Given the description of an element on the screen output the (x, y) to click on. 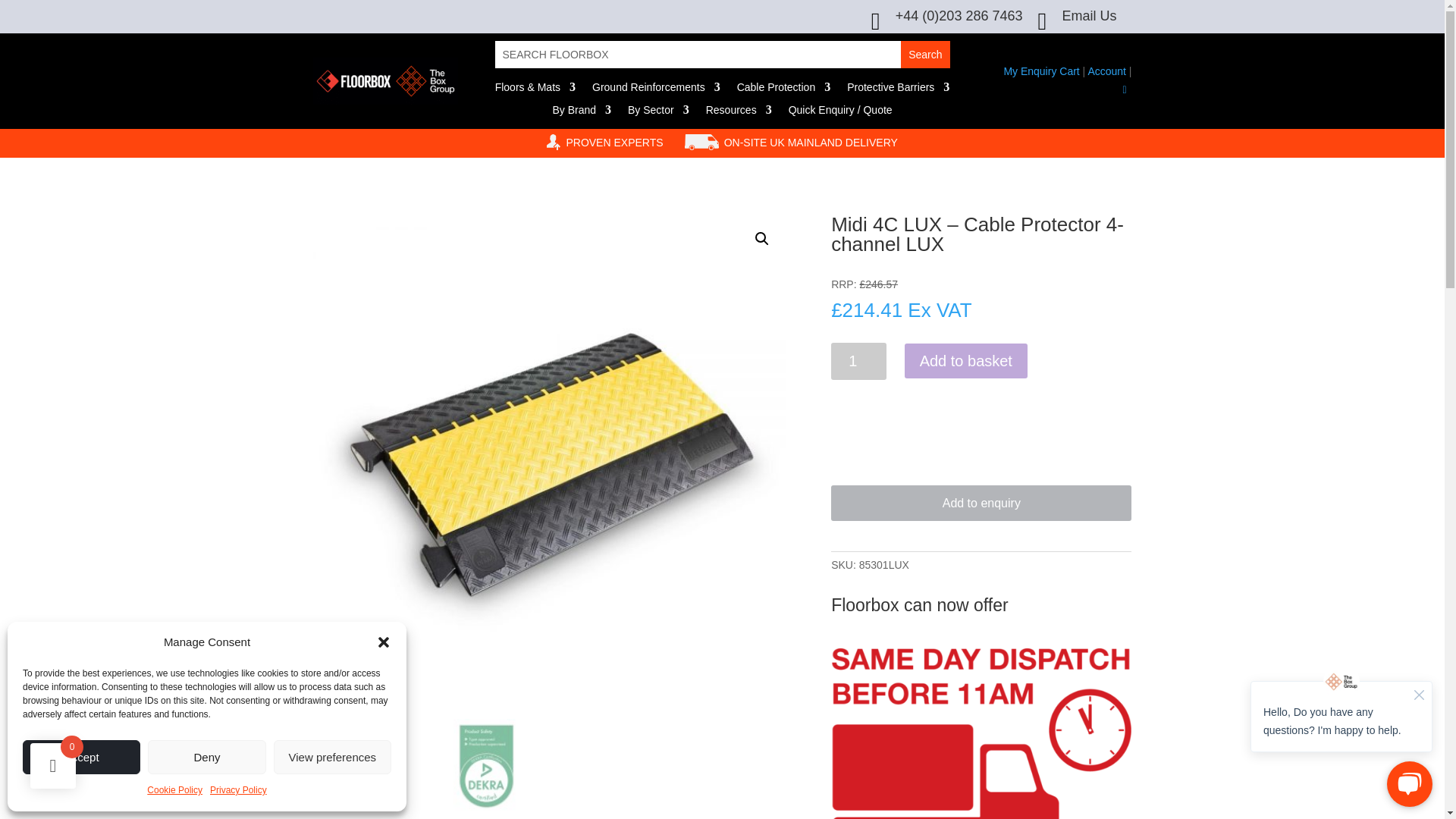
Deny (206, 756)
Cookie Policy (174, 791)
Privacy Policy (237, 791)
PayPal (981, 415)
PayPal Message 1 (981, 386)
The Floorbox from The Box Group (385, 80)
Same Day Dispatch-01 (981, 731)
Email Us (1088, 15)
Accept (81, 756)
Ground Reinforcements (656, 89)
Cable Protection (783, 89)
1 (858, 361)
Search (925, 53)
Search (925, 53)
Search (925, 53)
